Given the description of an element on the screen output the (x, y) to click on. 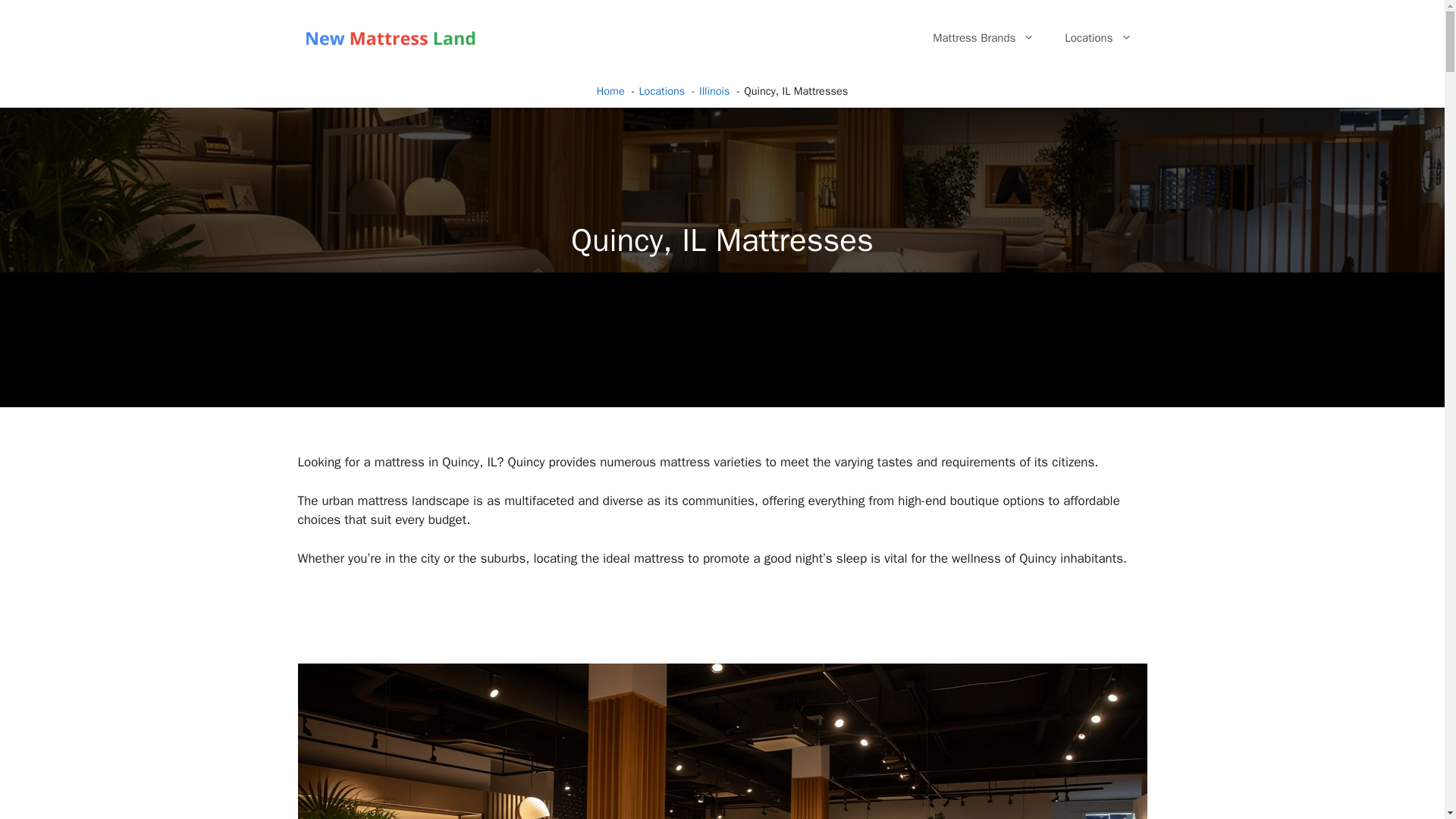
Illinois (714, 90)
Home (610, 90)
Mattress Brands (983, 37)
Locations (661, 90)
Locations (1098, 37)
